Given the description of an element on the screen output the (x, y) to click on. 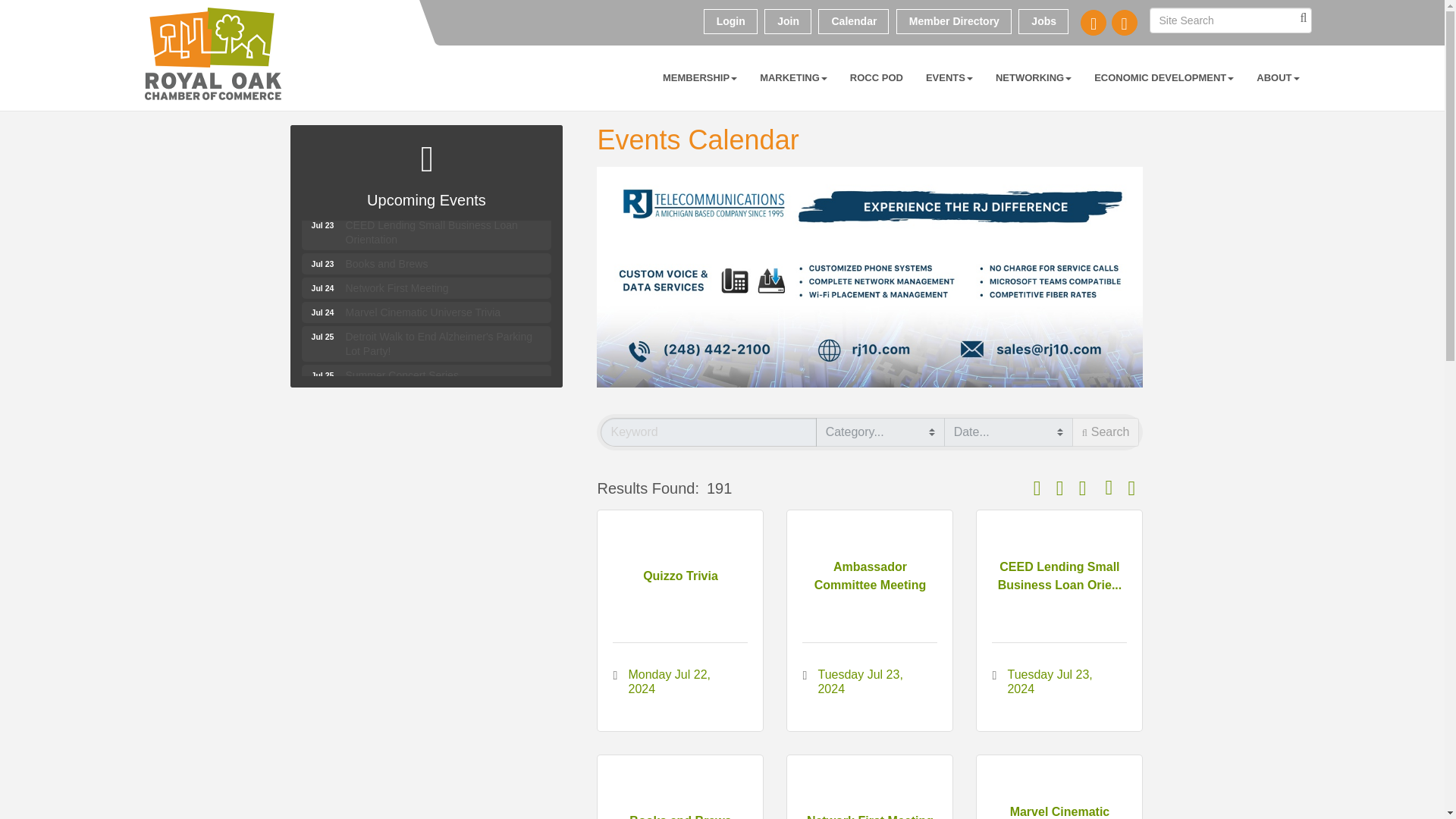
Icon Link (1124, 22)
Jul 24 (321, 287)
Summer Concert Series (426, 374)
MARKETING (793, 77)
Jul 23 (321, 224)
ROCC POD (876, 77)
Detroit Walk to End Alzheimer's Parking Lot Party! (426, 374)
Jul 24 (426, 263)
Jul 23 (426, 343)
Books and Brews (426, 343)
